Given the description of an element on the screen output the (x, y) to click on. 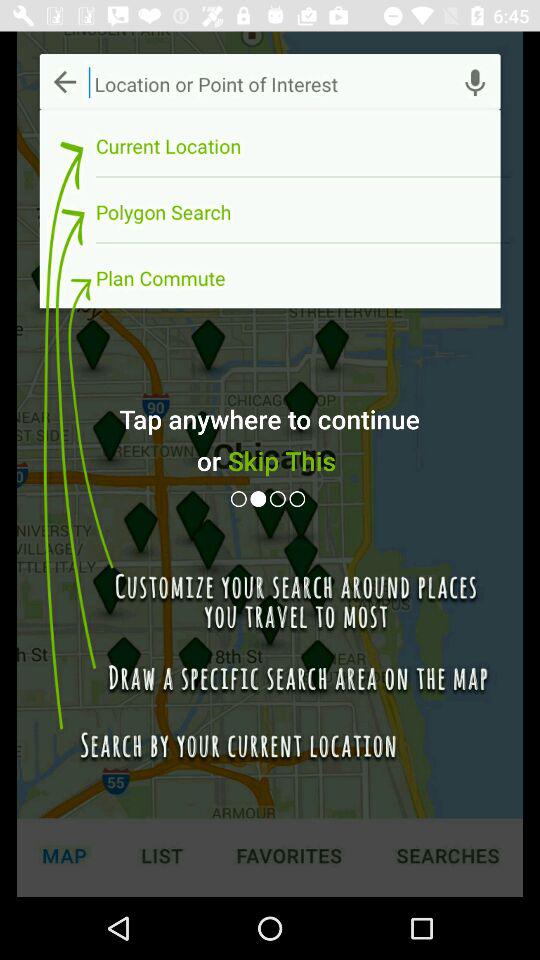
next button (260, 498)
